Given the description of an element on the screen output the (x, y) to click on. 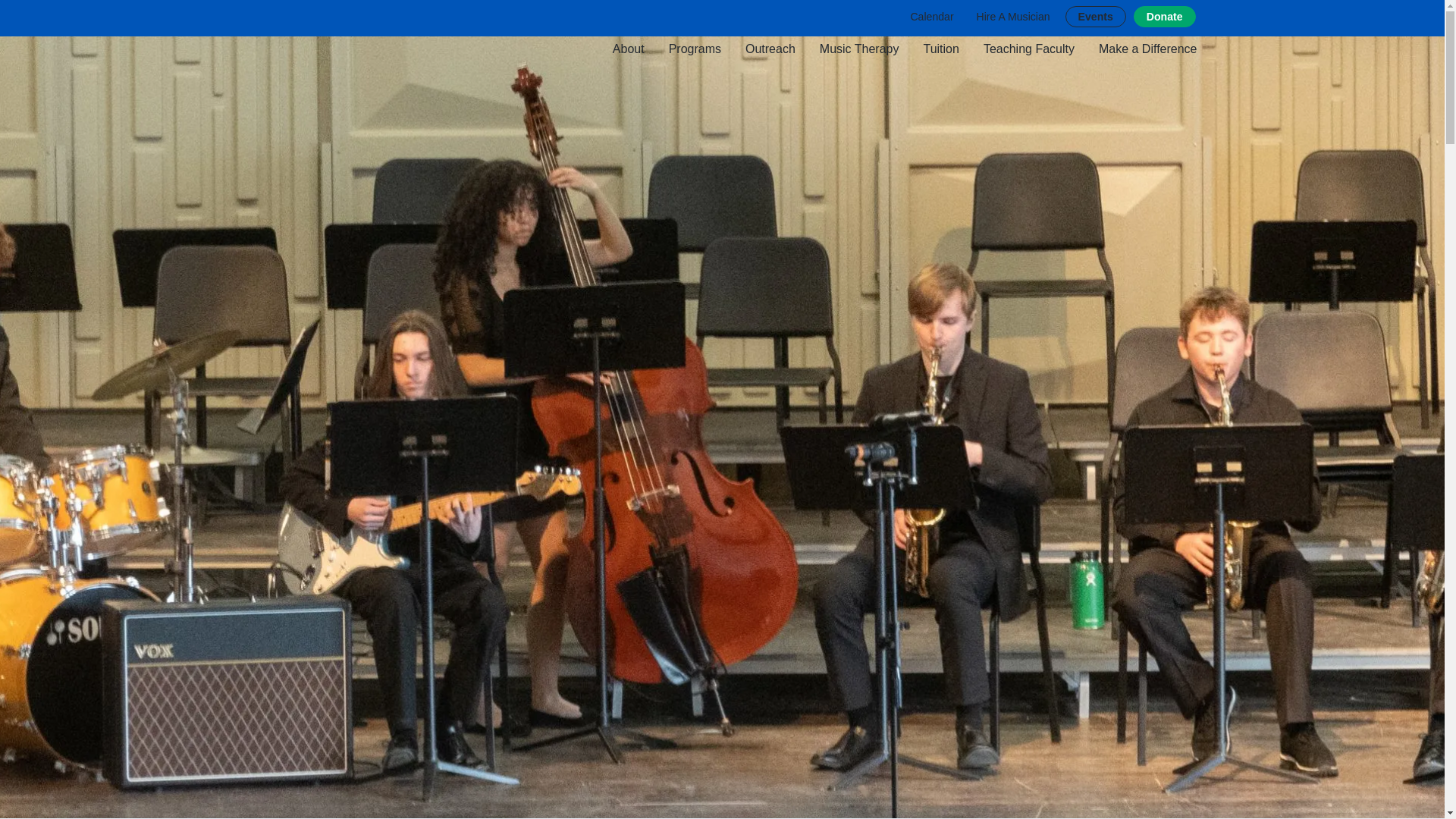
About (628, 49)
Music Therapy (859, 49)
Outreach (770, 49)
Tuition (940, 49)
Programs (695, 49)
